Given the description of an element on the screen output the (x, y) to click on. 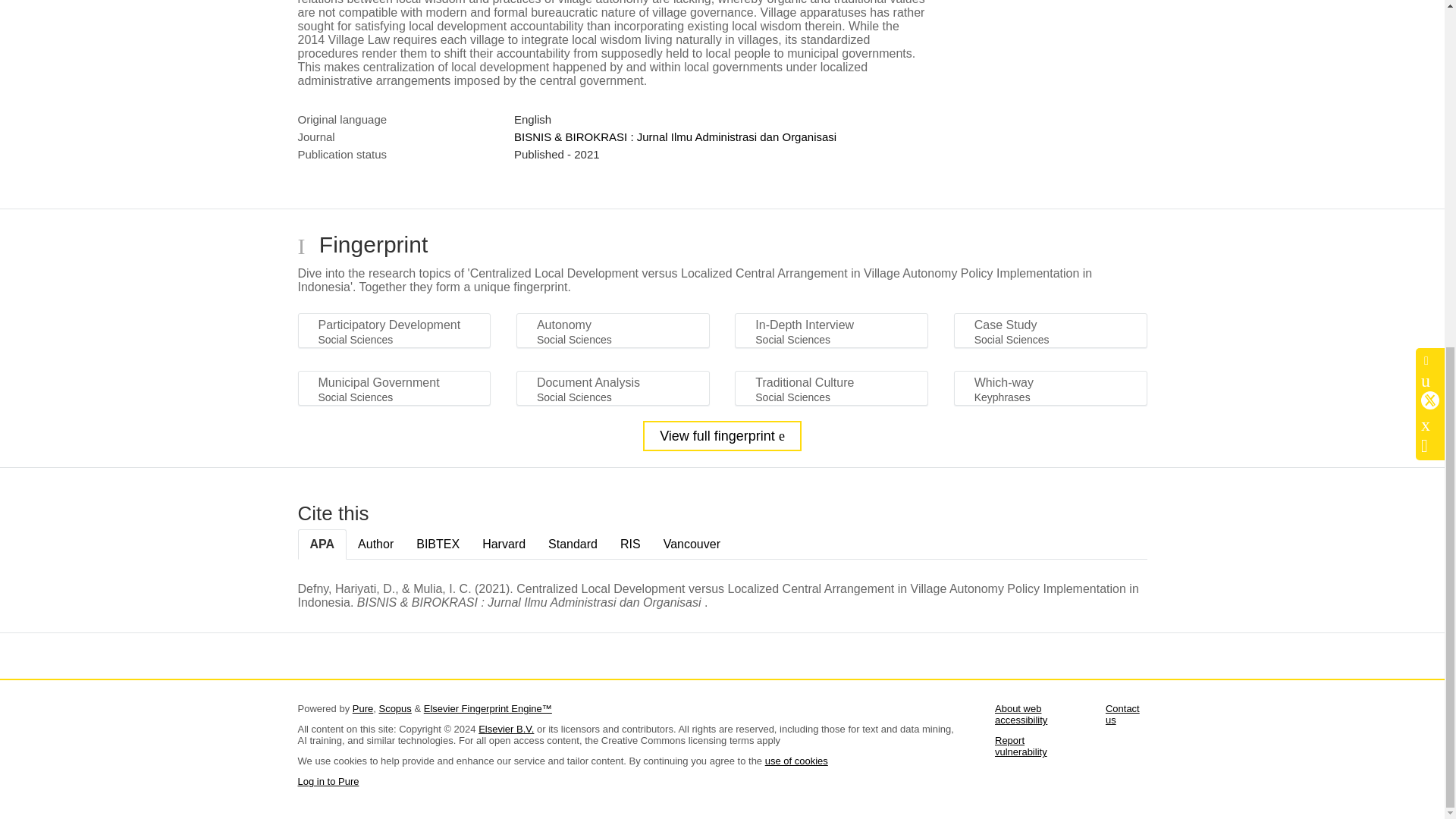
About web accessibility (1020, 713)
Pure (362, 708)
Log in to Pure (327, 781)
Scopus (394, 708)
View full fingerprint (722, 435)
use of cookies (796, 760)
Elsevier B.V. (506, 728)
